Given the description of an element on the screen output the (x, y) to click on. 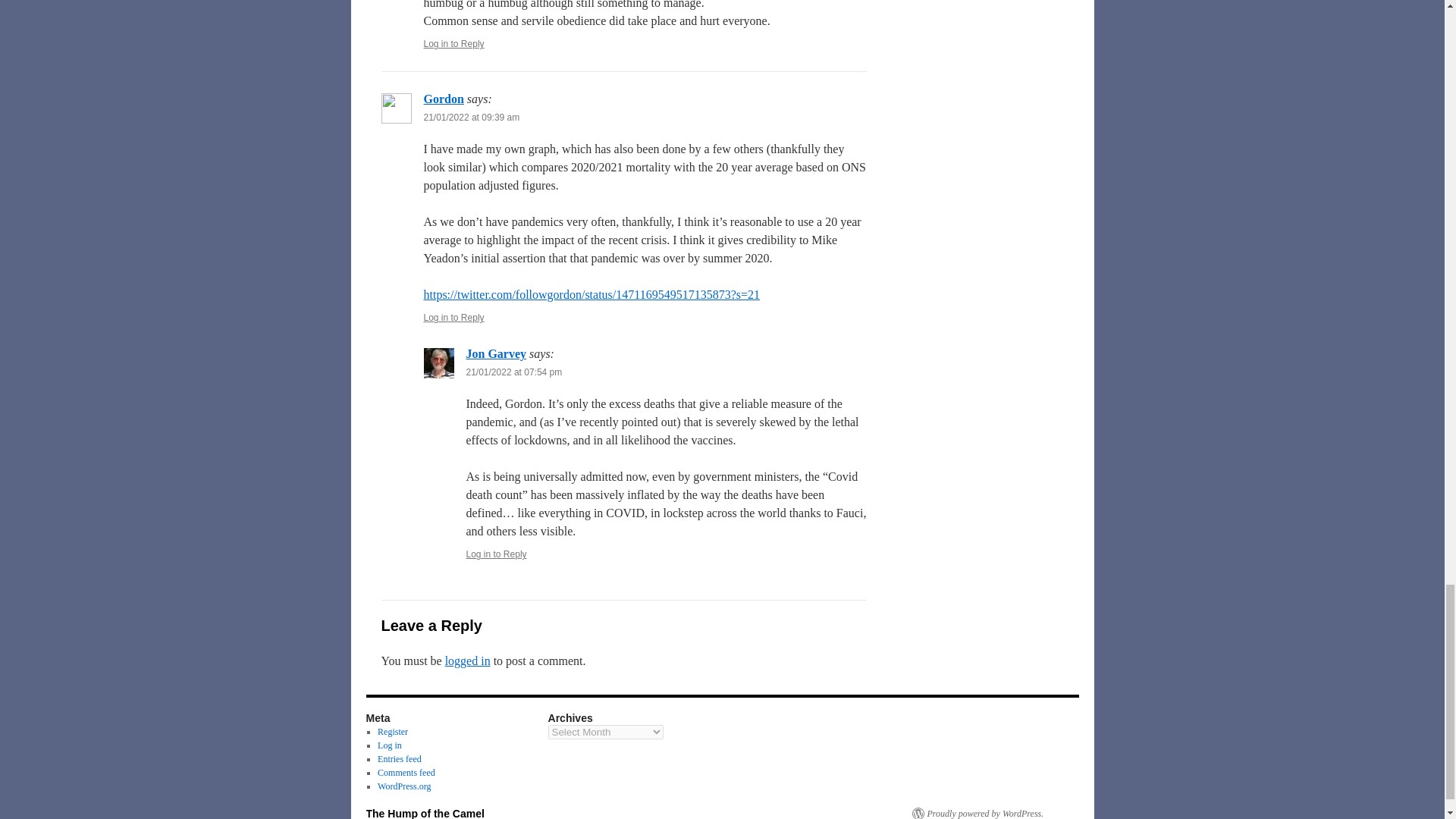
Gordon (443, 98)
Log in to Reply (495, 553)
Log in to Reply (453, 317)
Log in to Reply (453, 43)
Jon Garvey (495, 353)
logged in (467, 660)
